Given the description of an element on the screen output the (x, y) to click on. 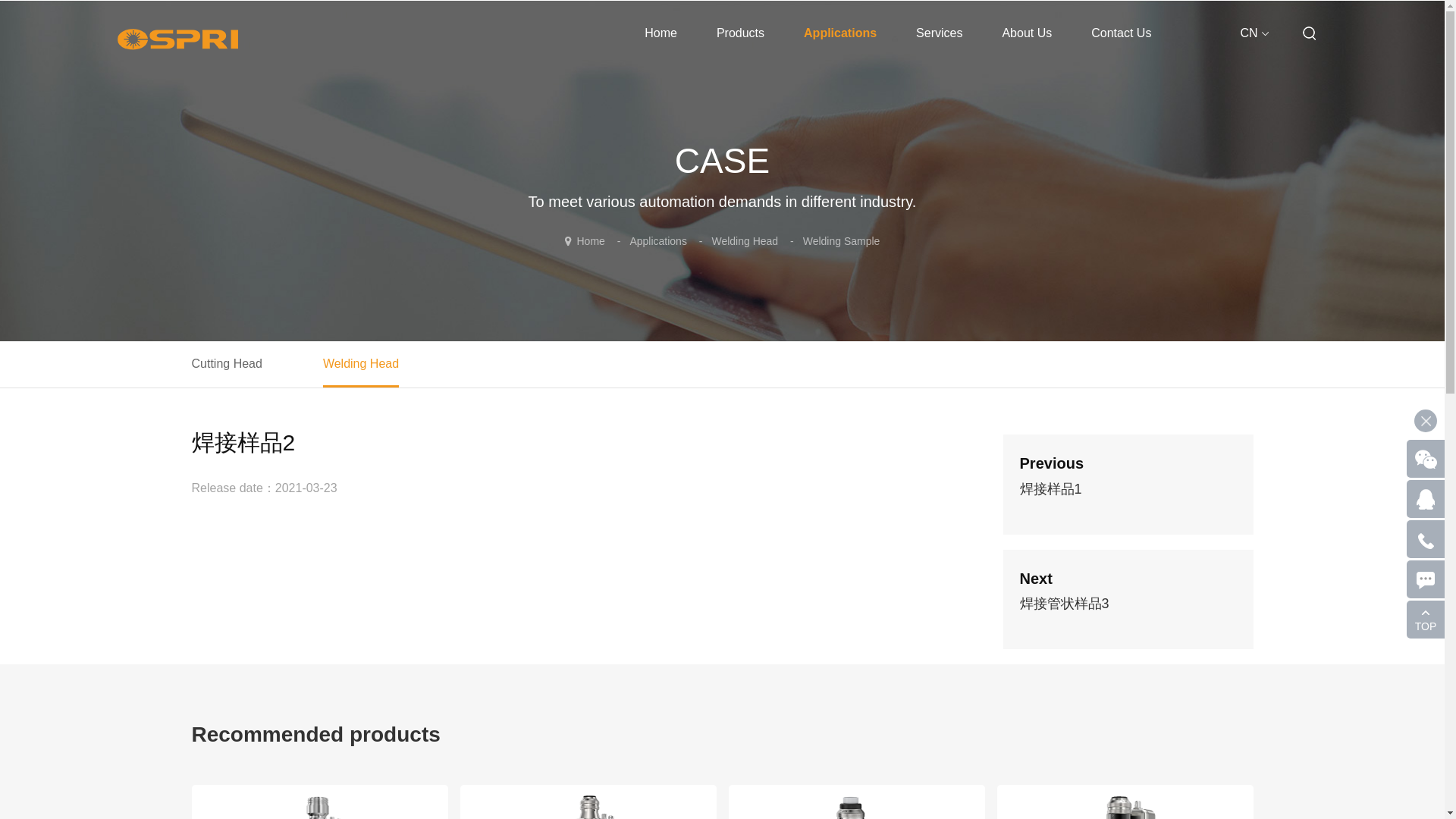
Products (740, 33)
Services (939, 33)
Contact Us (1120, 33)
Applications (839, 33)
About Us (1025, 33)
